Given the description of an element on the screen output the (x, y) to click on. 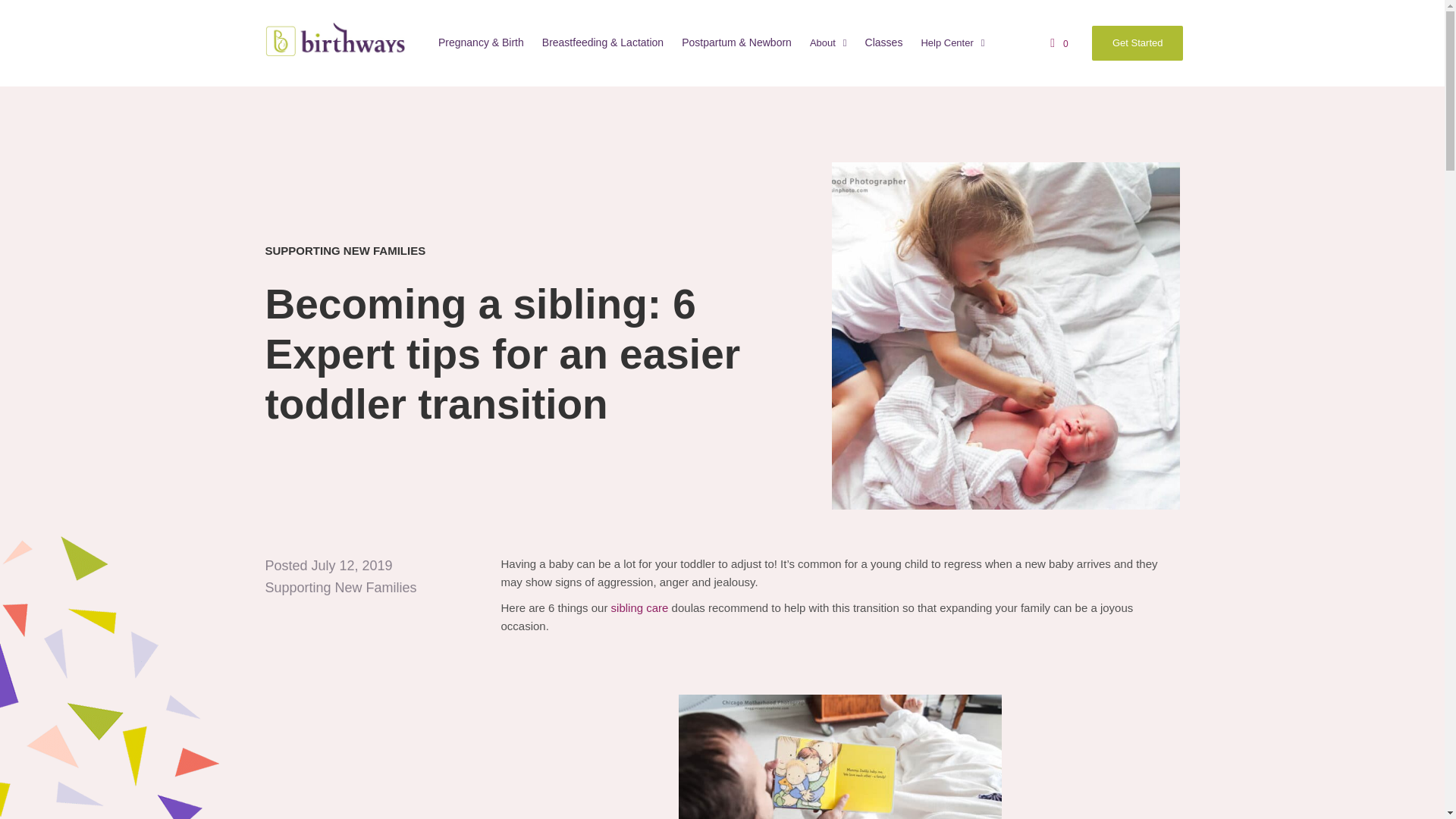
birthways-logo-horizontal (335, 38)
Supporting New Families (340, 587)
Help Center (952, 44)
0 (1061, 43)
About (828, 44)
Get Started (1137, 42)
sibling care (639, 607)
Classes (883, 43)
Sibling-adjustment-Birthways-Chicago (1005, 335)
